Given the description of an element on the screen output the (x, y) to click on. 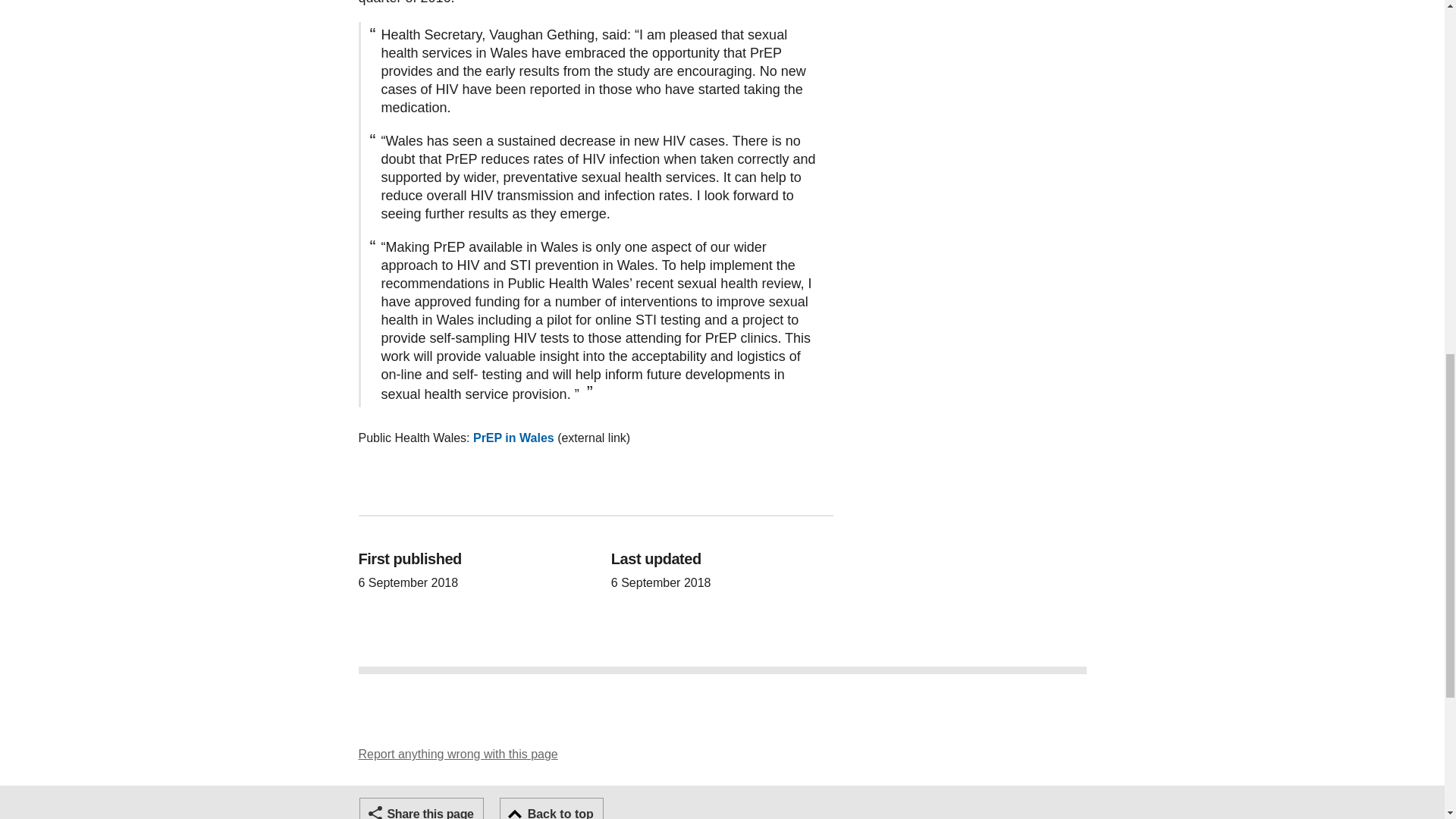
PrEP in Wales (513, 437)
Report anything wrong with this page (457, 753)
Back to top (551, 808)
